Given the description of an element on the screen output the (x, y) to click on. 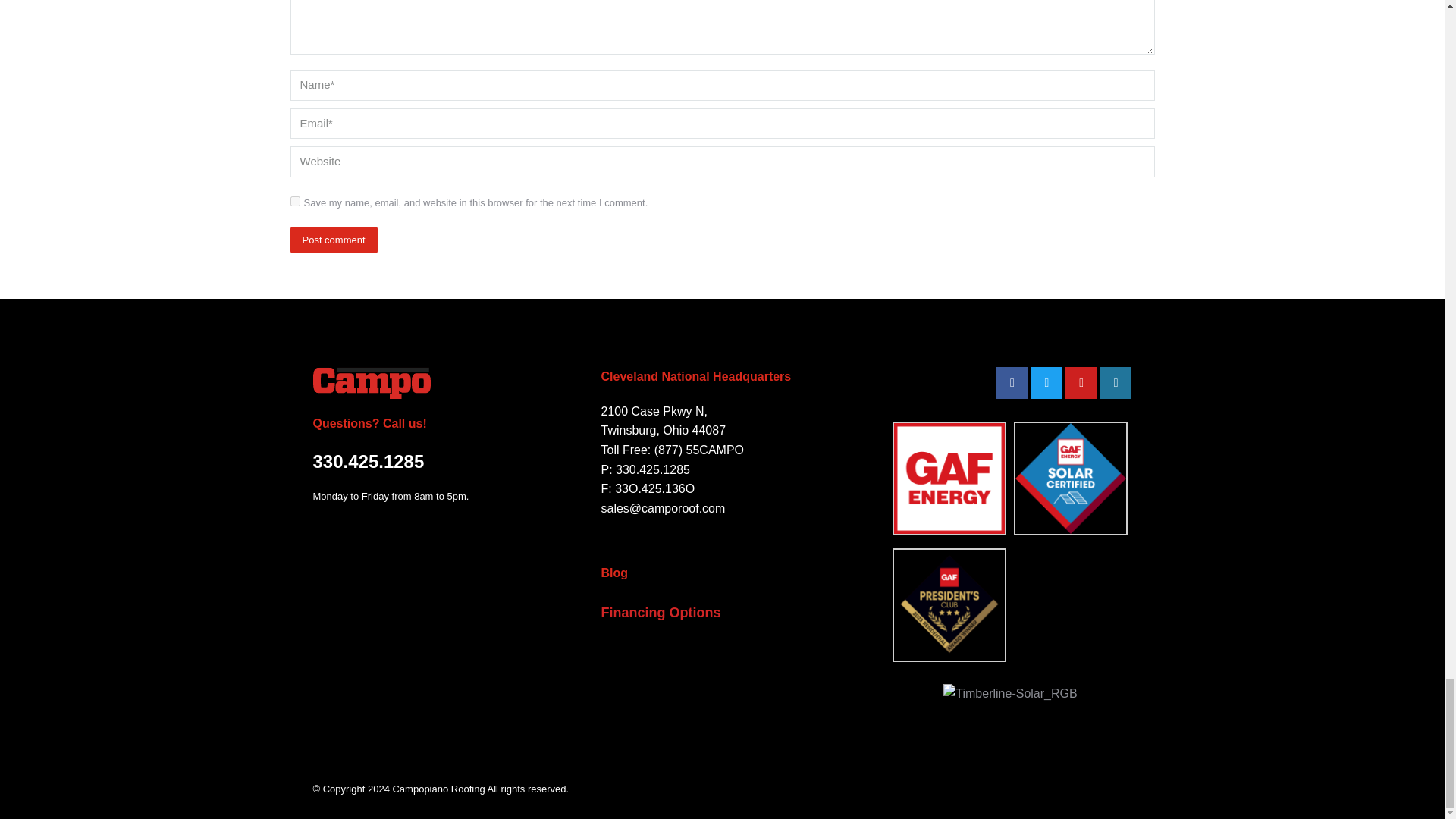
yes (294, 201)
